Given the description of an element on the screen output the (x, y) to click on. 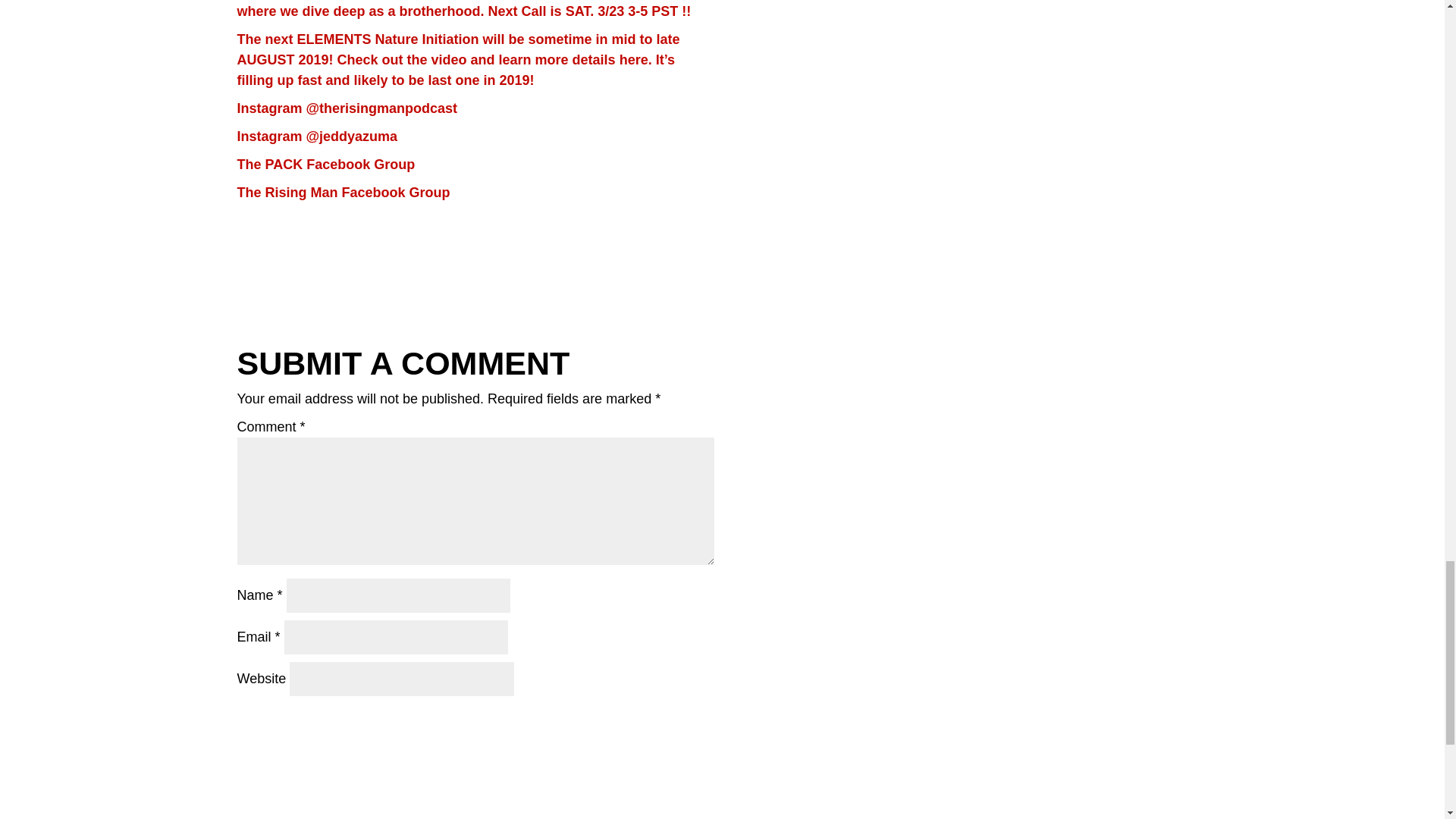
The PACK Facebook Group (324, 164)
Submit Comment (627, 722)
The Rising Man Facebook Group (342, 192)
Submit Comment (627, 722)
